Given the description of an element on the screen output the (x, y) to click on. 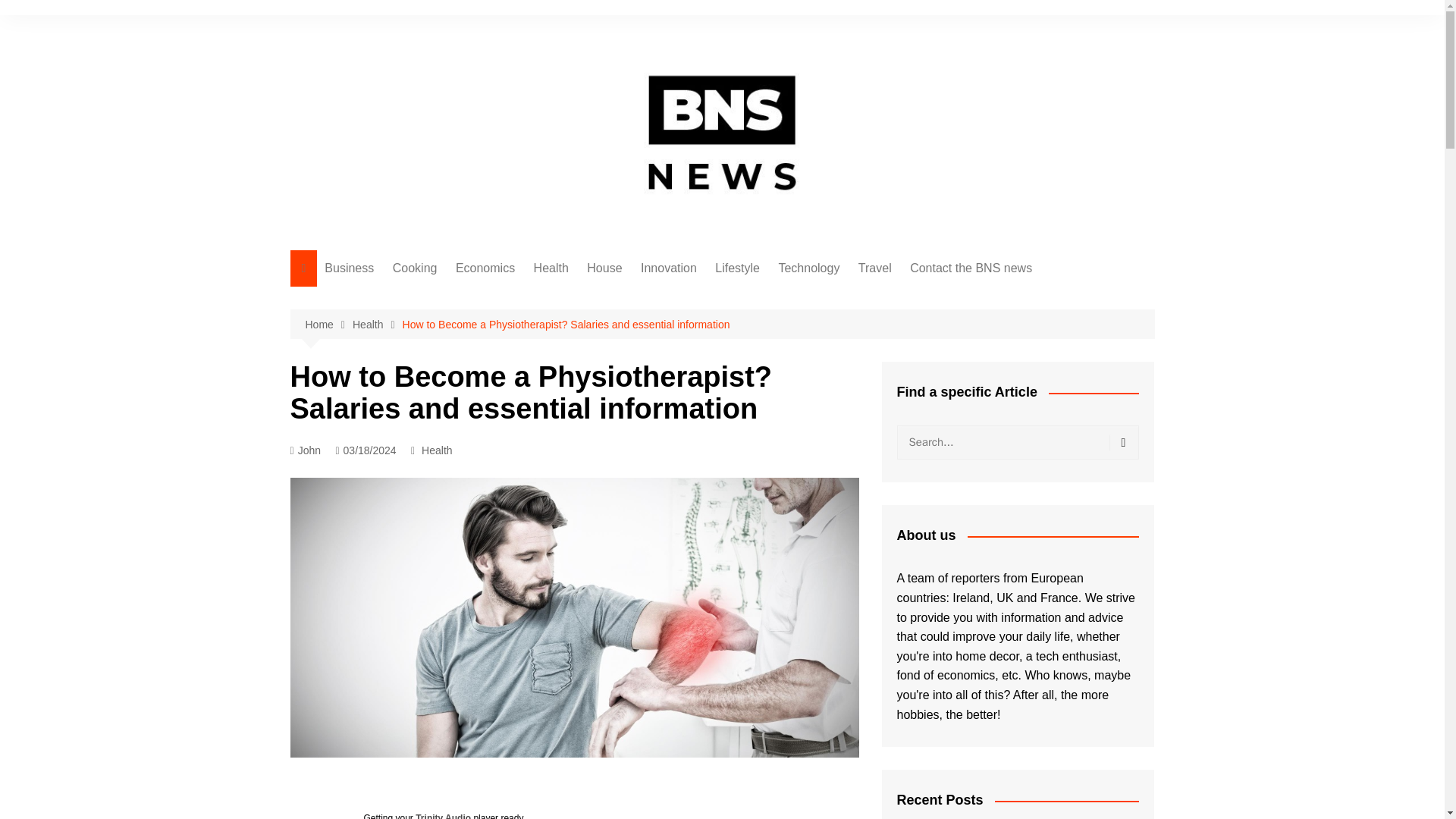
John (304, 450)
Health (436, 450)
Health (550, 268)
Innovation (668, 268)
Travel (874, 268)
Economics (485, 268)
Trinity Audio (442, 816)
House (603, 268)
Lifestyle (737, 268)
Cooking (415, 268)
Health (377, 323)
Technology (808, 268)
Contact the BNS news (970, 268)
Home (328, 323)
